Given the description of an element on the screen output the (x, y) to click on. 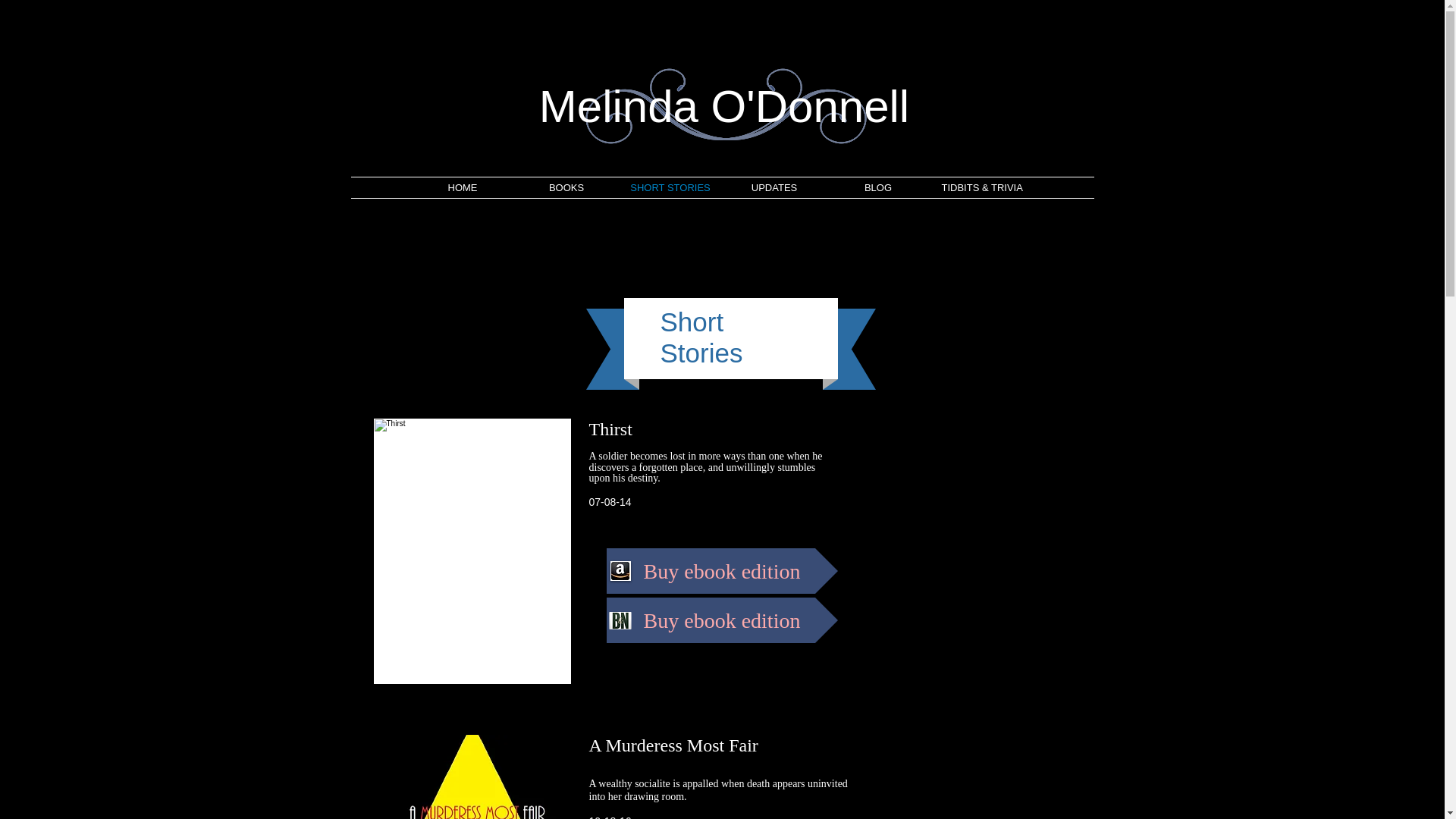
BLOG (878, 187)
BOOKS (565, 187)
UPDATES (773, 187)
Buy ebook edition (722, 619)
HOME (462, 187)
SHORT STORIES (670, 187)
AMMF amazon.jpg (471, 776)
Buy ebook edition (722, 570)
